Given the description of an element on the screen output the (x, y) to click on. 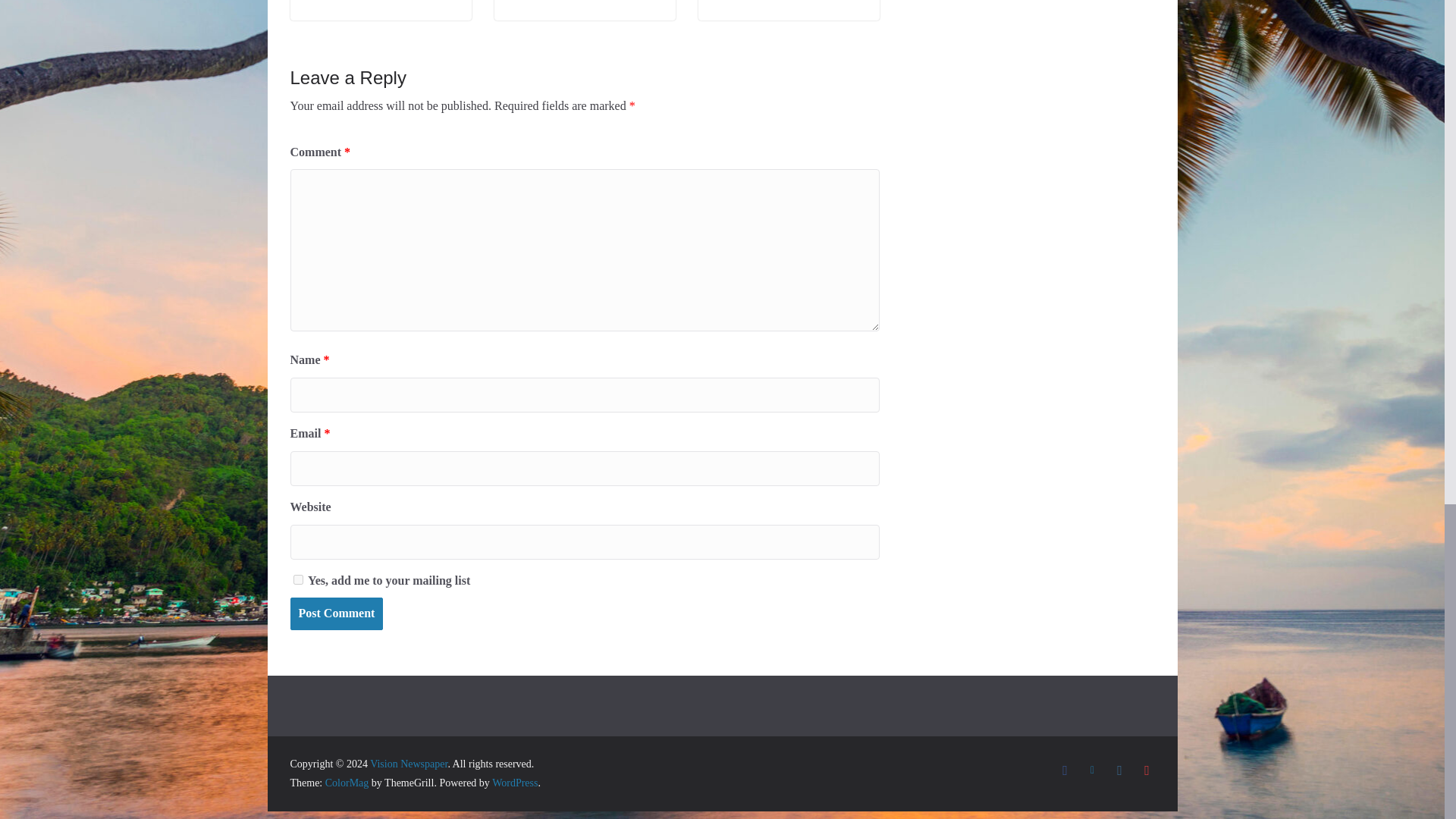
1 (297, 579)
Post Comment (335, 613)
